Given the description of an element on the screen output the (x, y) to click on. 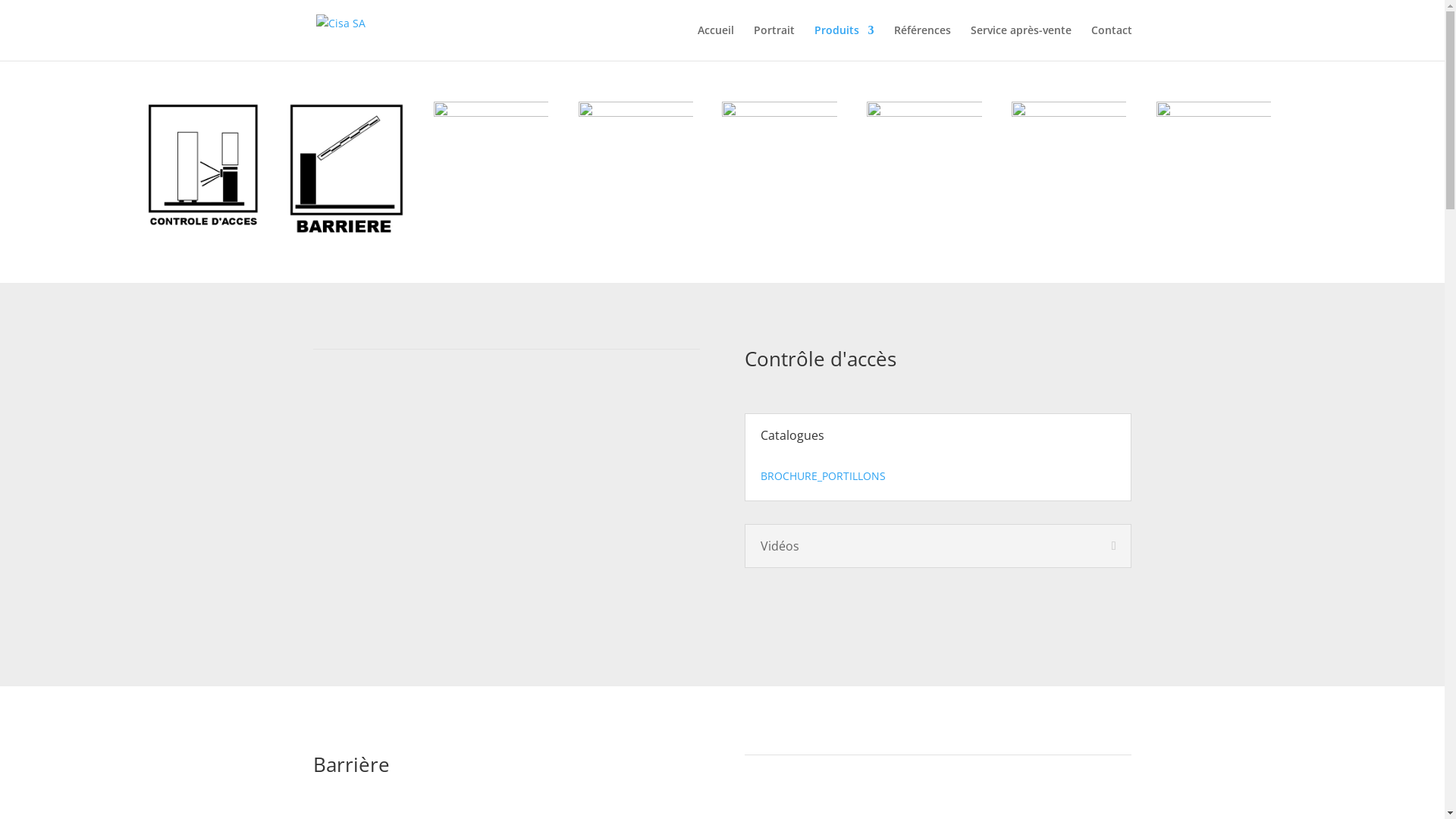
Contact Element type: text (1110, 42)
Portrait Element type: text (773, 42)
Produits Element type: text (844, 42)
BROCHURE_PORTILLONS Element type: text (822, 475)
Accueil Element type: text (715, 42)
